Given the description of an element on the screen output the (x, y) to click on. 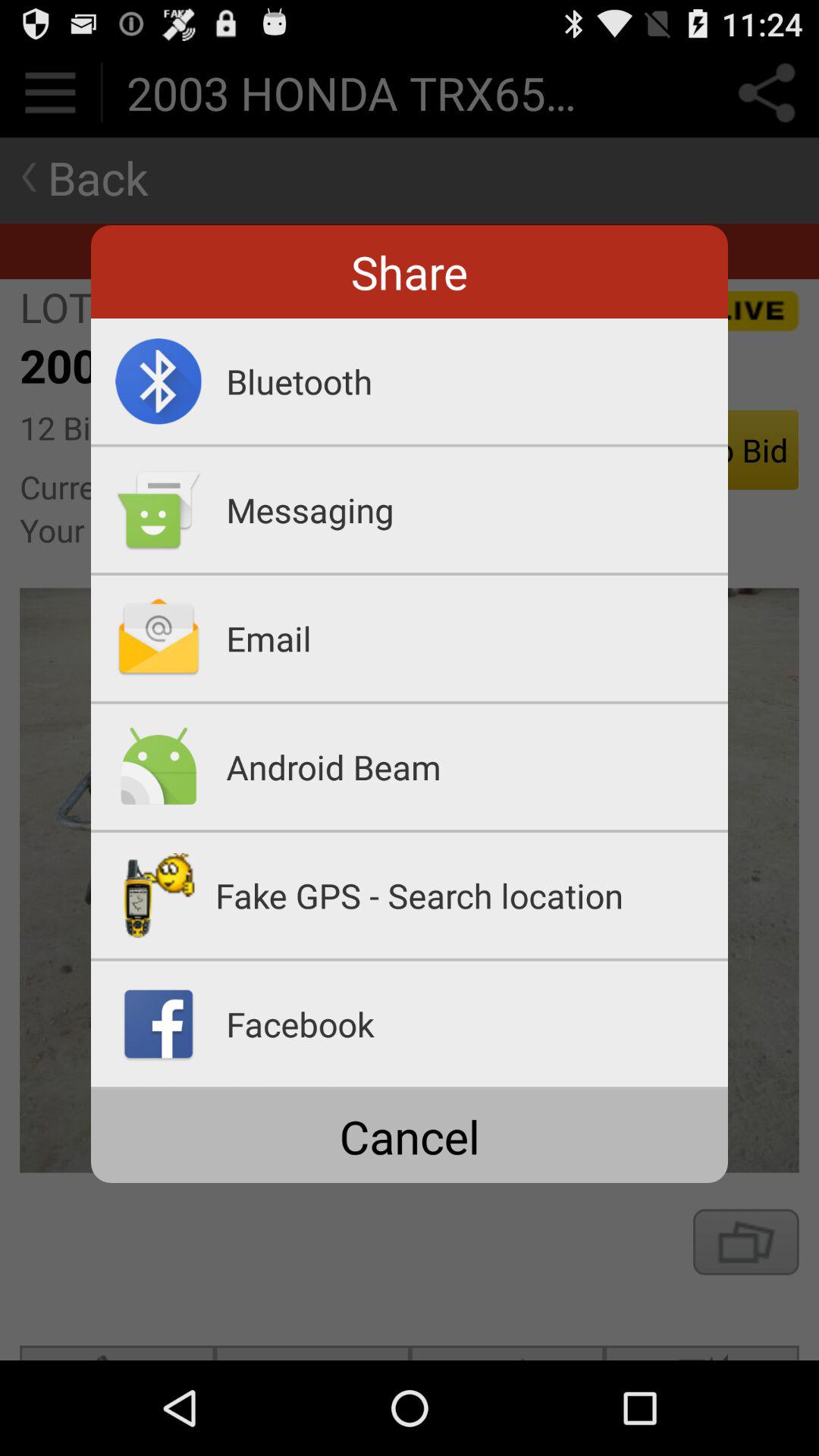
launch the cancel icon (409, 1136)
